Given the description of an element on the screen output the (x, y) to click on. 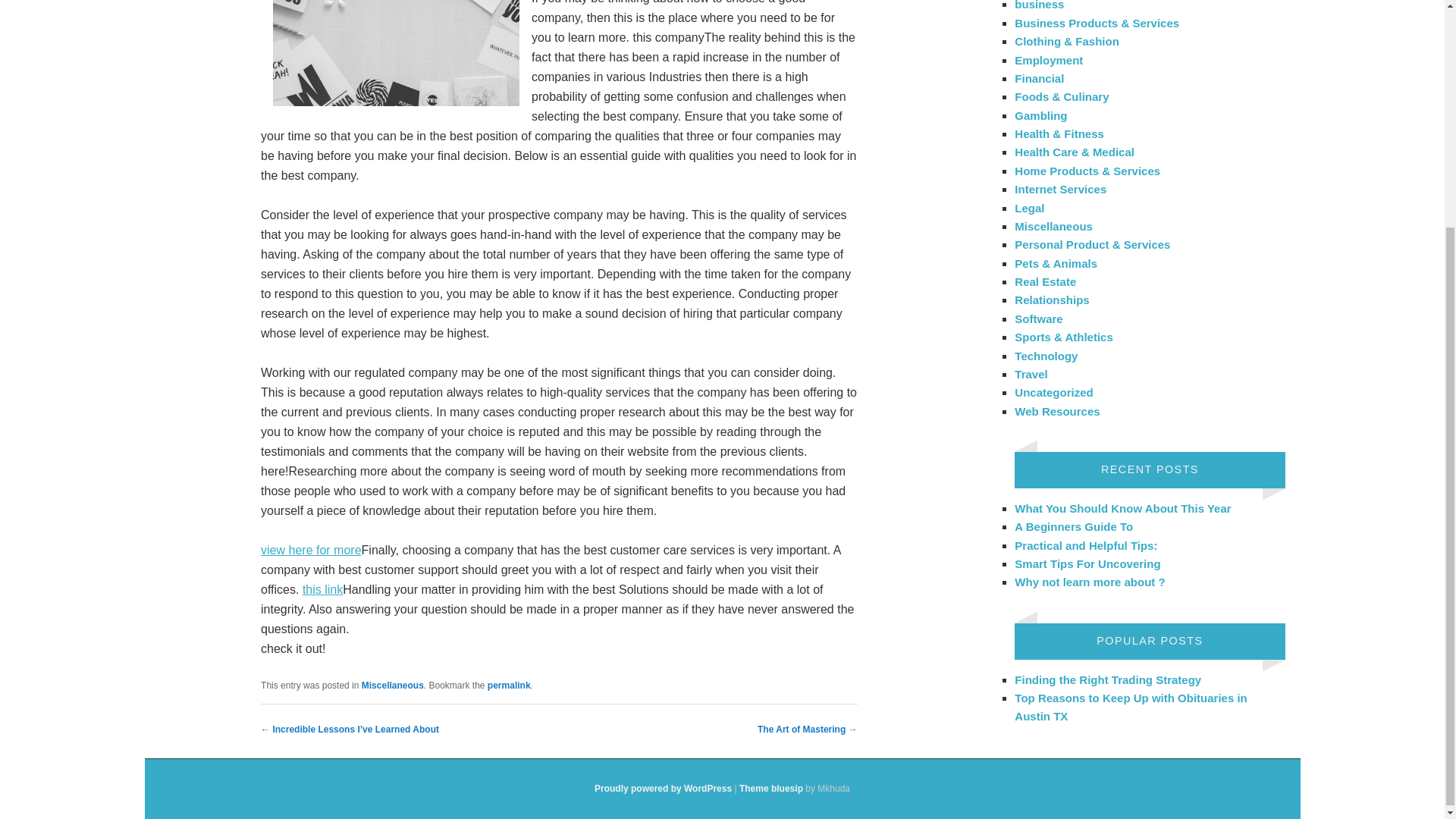
permalink (509, 685)
view here for more (310, 549)
Permalink to Tips for The Average Joe (509, 685)
Mkhuda (771, 787)
Miscellaneous (392, 685)
Travel (1030, 373)
Miscellaneous (1053, 226)
Software (1038, 318)
Gambling (1040, 115)
Real Estate (1044, 281)
